Given the description of an element on the screen output the (x, y) to click on. 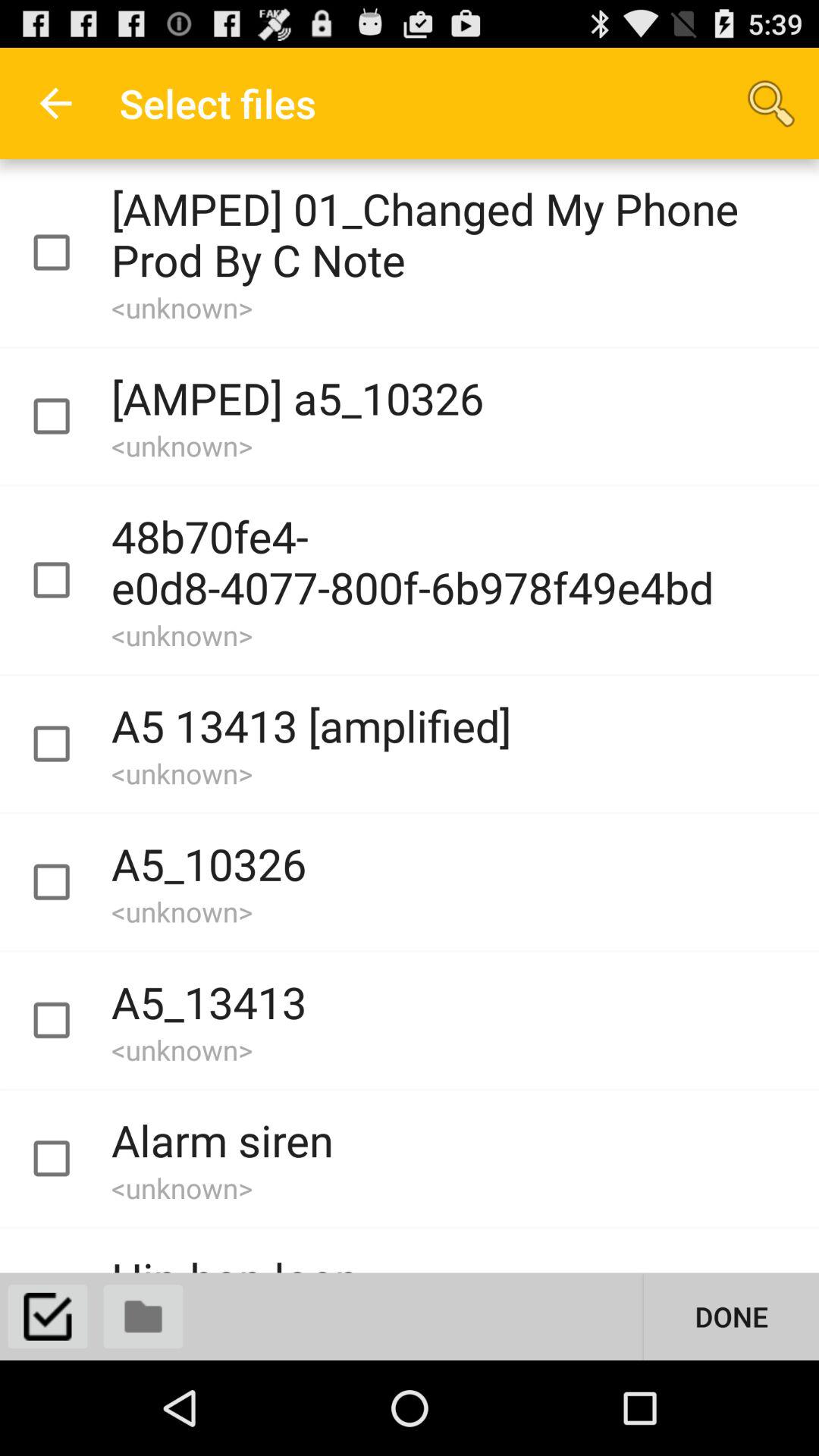
select all (47, 1316)
